Given the description of an element on the screen output the (x, y) to click on. 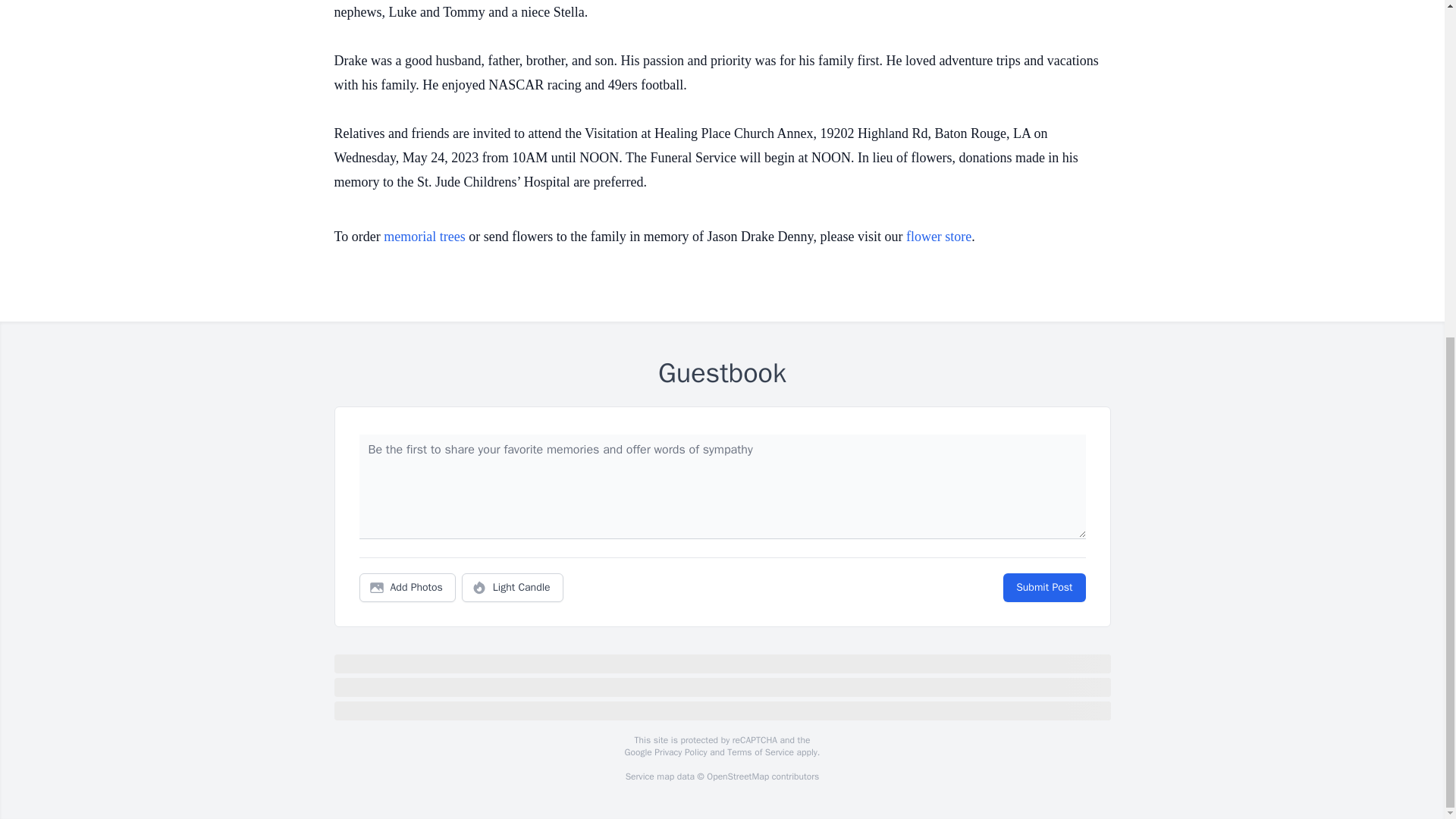
Light Candle (512, 587)
Submit Post (1043, 587)
Privacy Policy (679, 752)
flower store (938, 236)
Add Photos (407, 587)
Terms of Service (759, 752)
memorial trees (424, 236)
OpenStreetMap (737, 776)
